Given the description of an element on the screen output the (x, y) to click on. 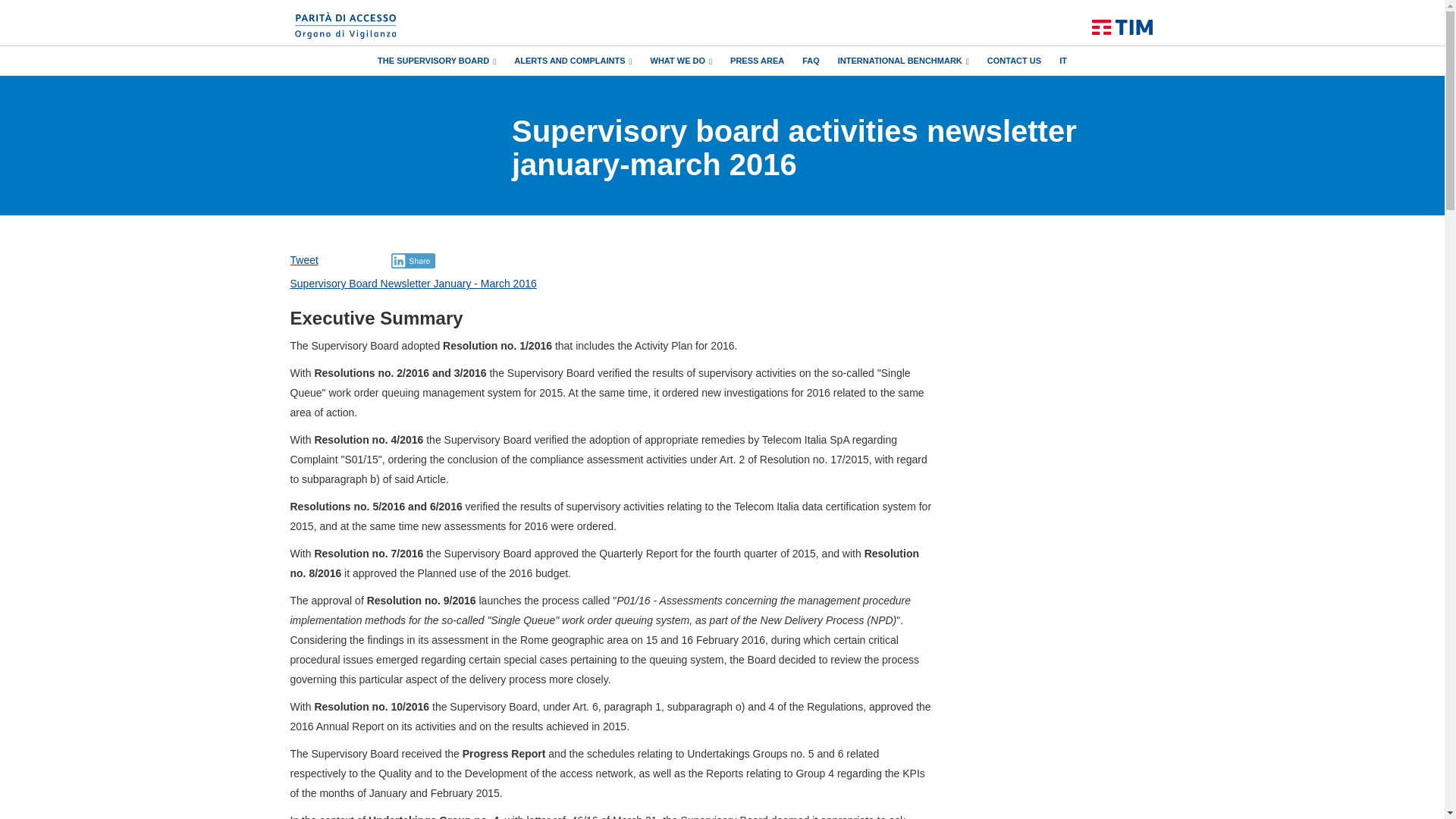
Home (345, 18)
Home (1122, 27)
WHAT WE DO (681, 59)
INTERNATIONAL BENCHMARK (903, 59)
CONTACT US (1014, 59)
THE SUPERVISORY BOARD (436, 59)
Supervisory Board Newsletter January - March 2016 (412, 283)
Share (413, 260)
Tweet (303, 259)
PRESS AREA (757, 59)
ALERTS AND COMPLAINTS (572, 59)
